Given the description of an element on the screen output the (x, y) to click on. 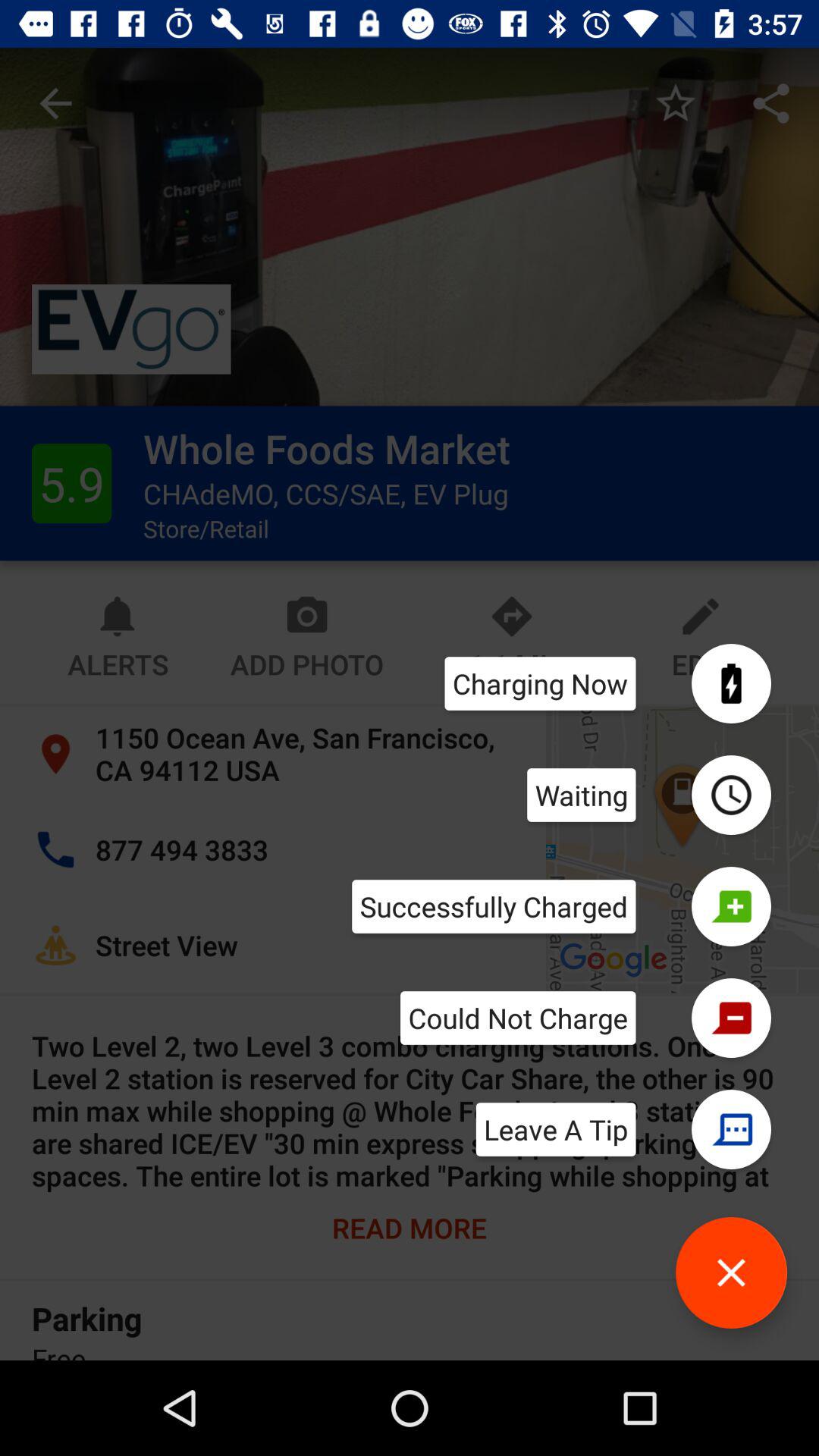
click successfully charged item (493, 906)
